Given the description of an element on the screen output the (x, y) to click on. 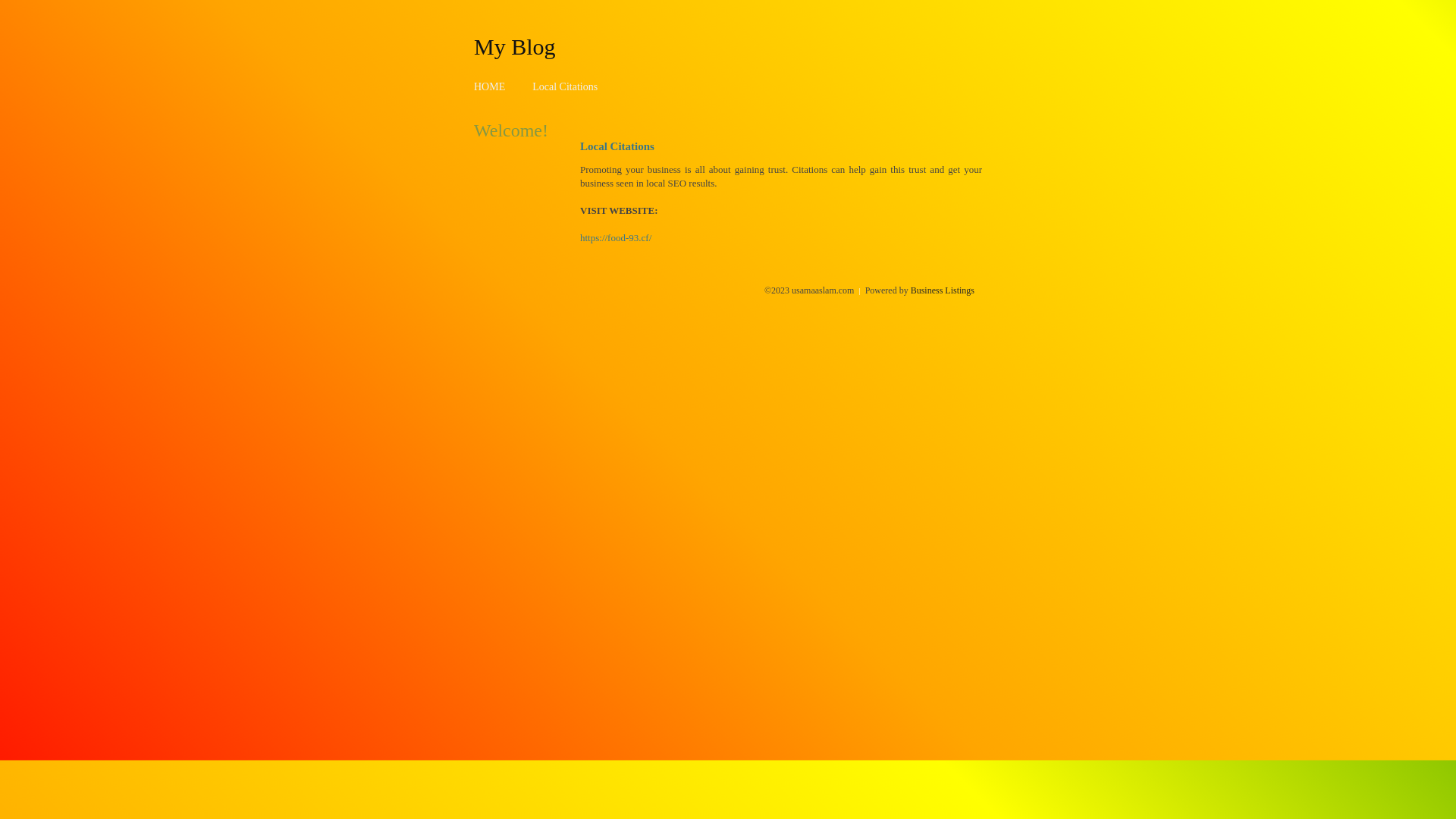
My Blog Element type: text (514, 46)
HOME Element type: text (489, 86)
Local Citations Element type: text (564, 86)
https://food-93.cf/ Element type: text (615, 237)
Business Listings Element type: text (942, 290)
